Given the description of an element on the screen output the (x, y) to click on. 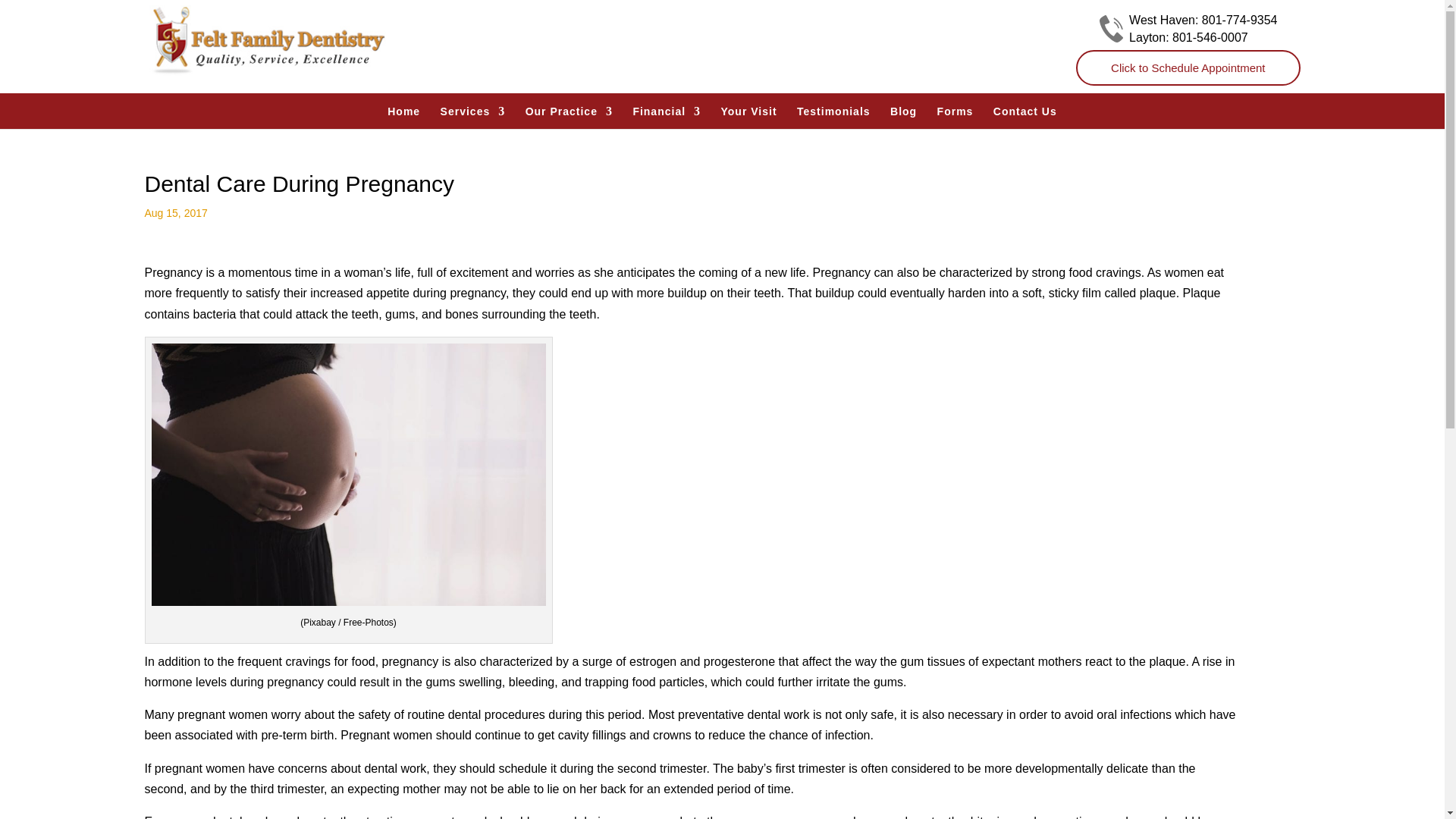
Your Visit (748, 111)
801-546-0007 (1209, 37)
Utah dentist (403, 111)
Home (403, 111)
Blog (903, 111)
Click to Schedule Appointment (1187, 67)
Our Practice (568, 111)
Services (473, 111)
schedule an appointment (1187, 67)
801-774-9354 (1240, 19)
